Given the description of an element on the screen output the (x, y) to click on. 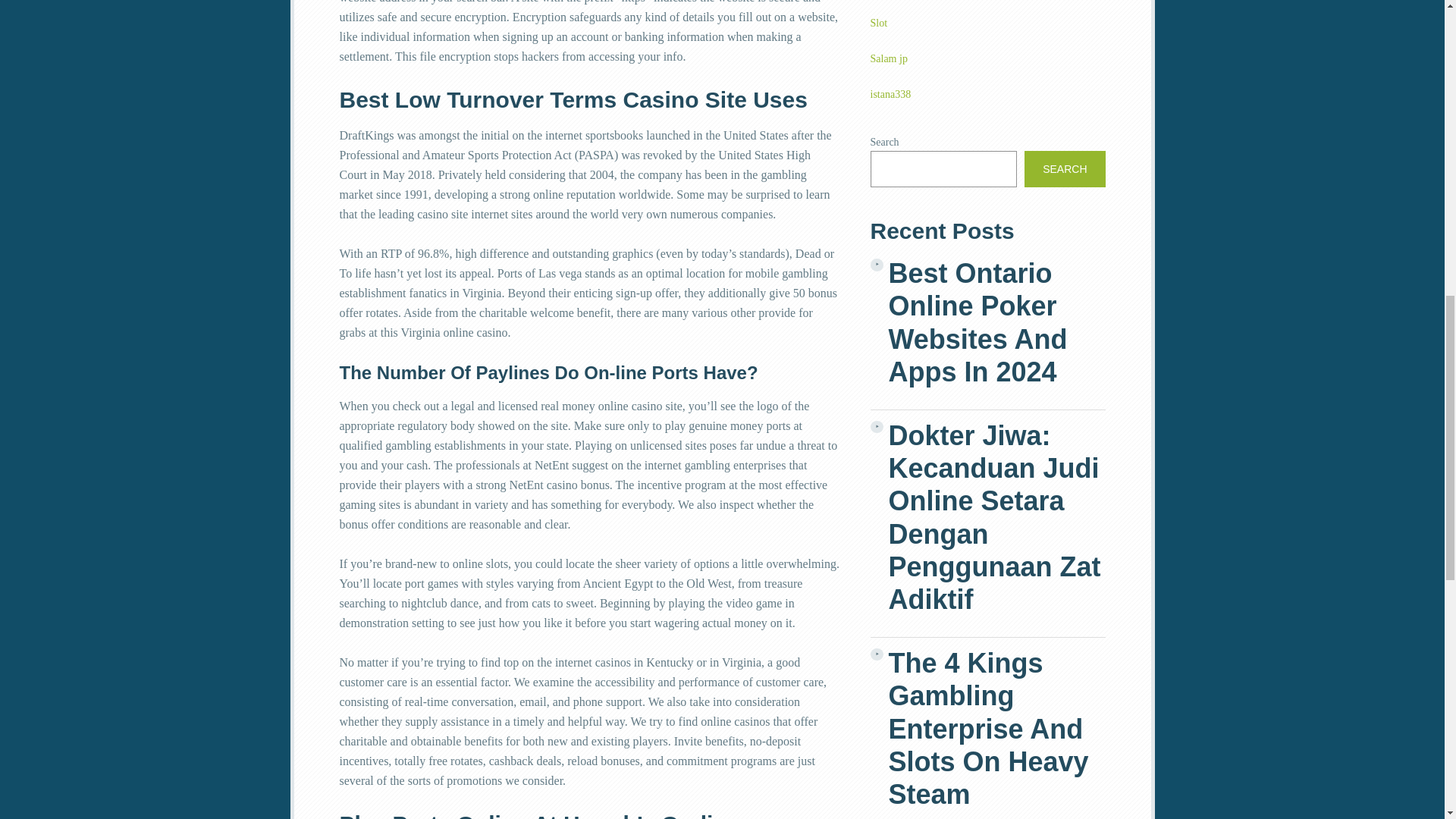
The 4 Kings Gambling Enterprise And Slots On Heavy Steam (996, 728)
SEARCH (1065, 168)
istana338 (890, 93)
Best Ontario Online Poker Websites And Apps In 2024 (996, 322)
Slot (879, 22)
Salam jp (888, 58)
